Given the description of an element on the screen output the (x, y) to click on. 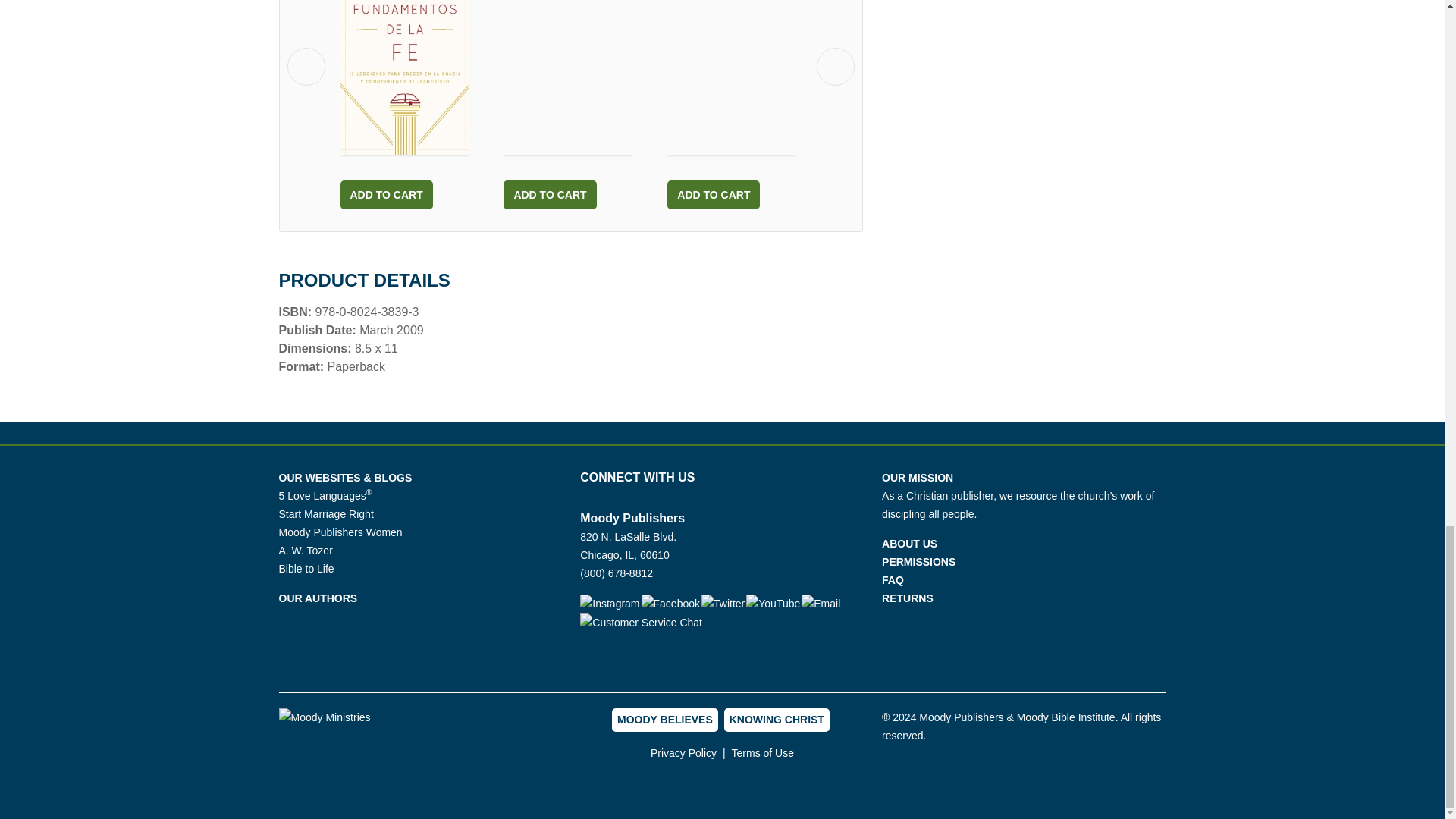
Start Marriage Right (326, 513)
Moody Publishers Women (341, 532)
The 5 Love Languages (325, 495)
Instagram (609, 603)
A. W. Tozer (306, 550)
